Given the description of an element on the screen output the (x, y) to click on. 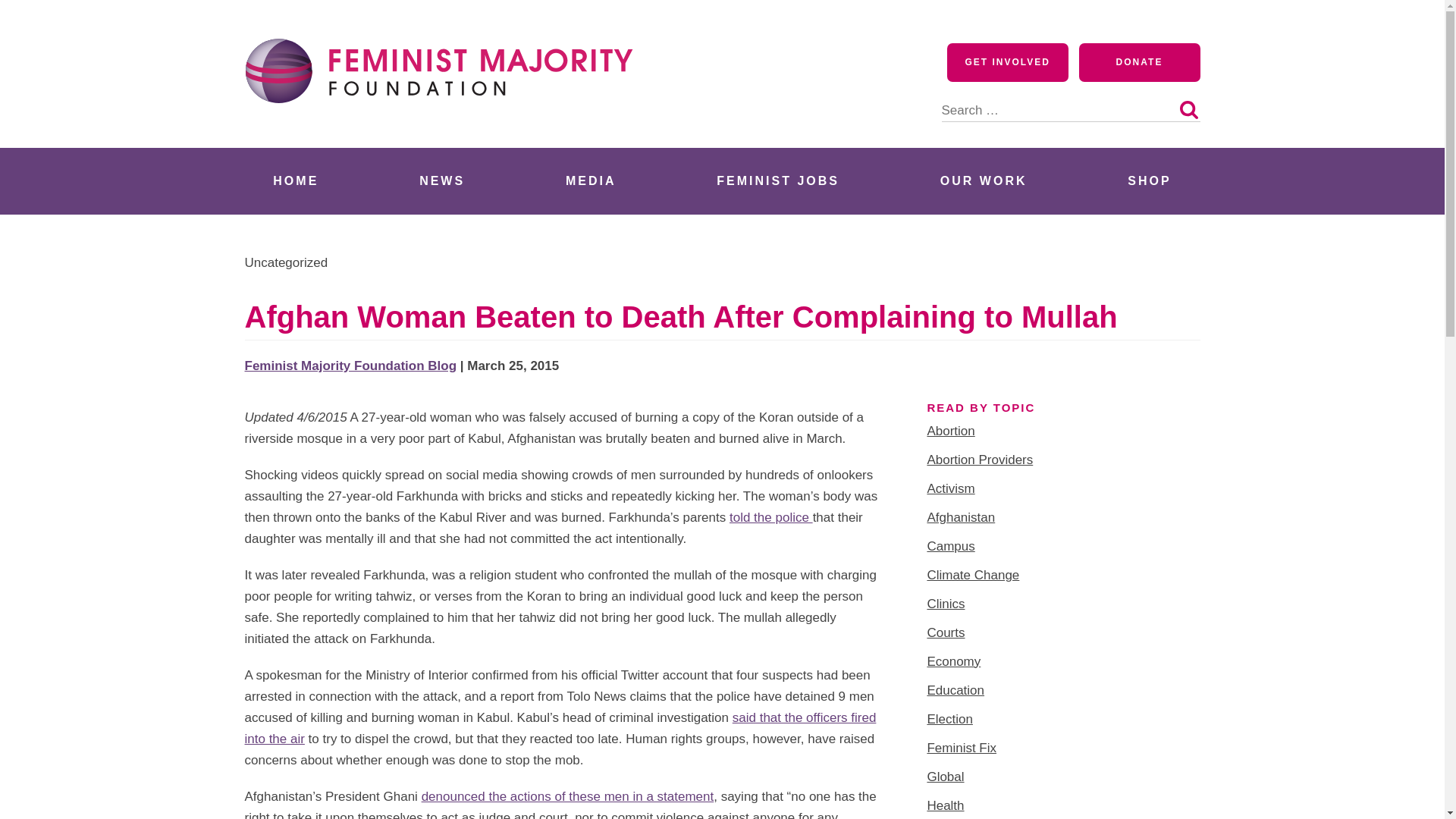
Abortion (950, 431)
DONATE (1138, 62)
Campus (950, 545)
GET INVOLVED (1007, 62)
Activism (950, 488)
Feminist Majority Foundation Blog (350, 365)
NEWS (441, 181)
Posts by Feminist Majority Foundation Blog (350, 365)
Feminist Majority Foundation (445, 130)
Afghanistan (960, 517)
